Given the description of an element on the screen output the (x, y) to click on. 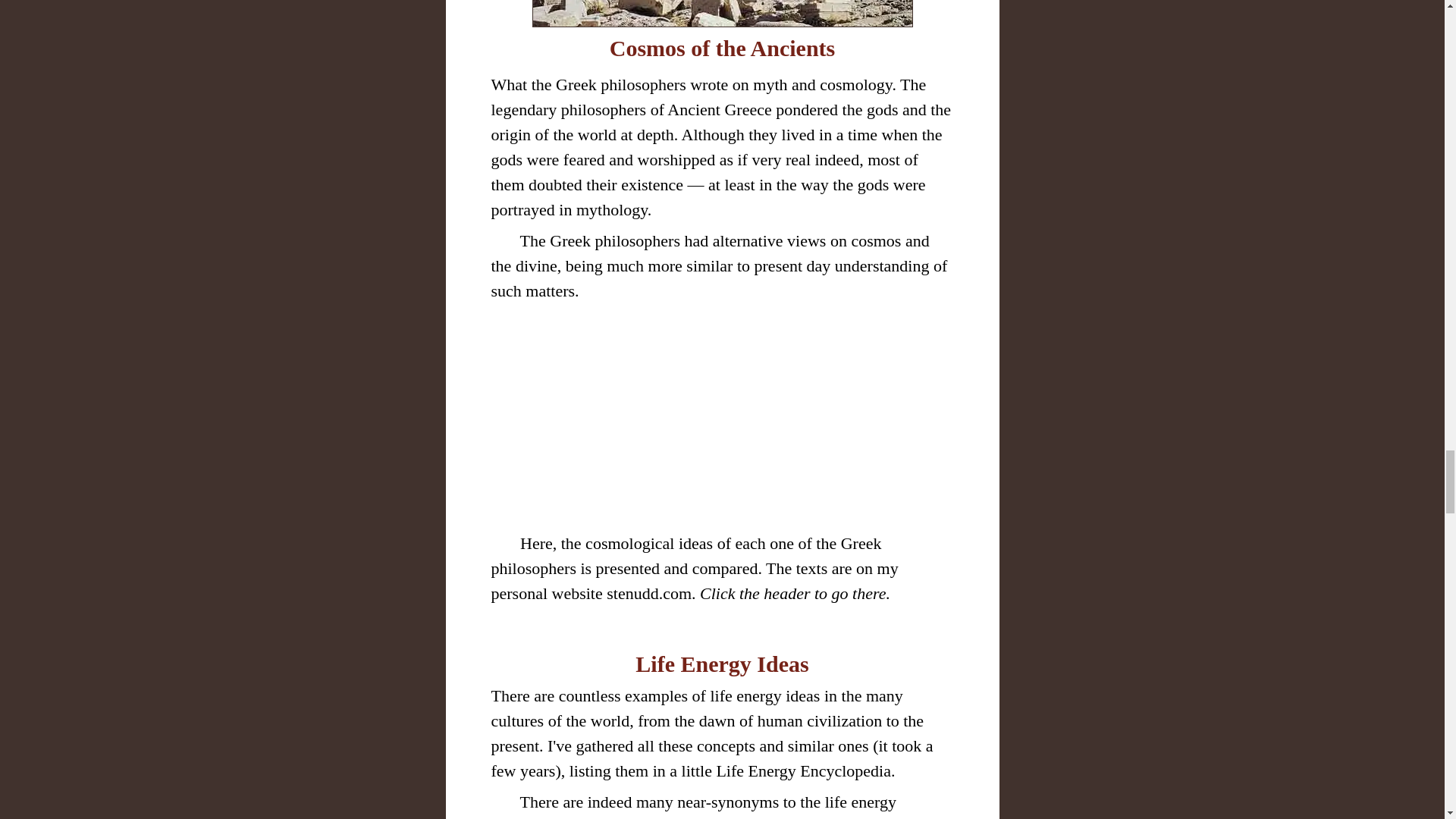
Cosmos of the Ancients (722, 48)
Life Energy Ideas (721, 663)
